Given the description of an element on the screen output the (x, y) to click on. 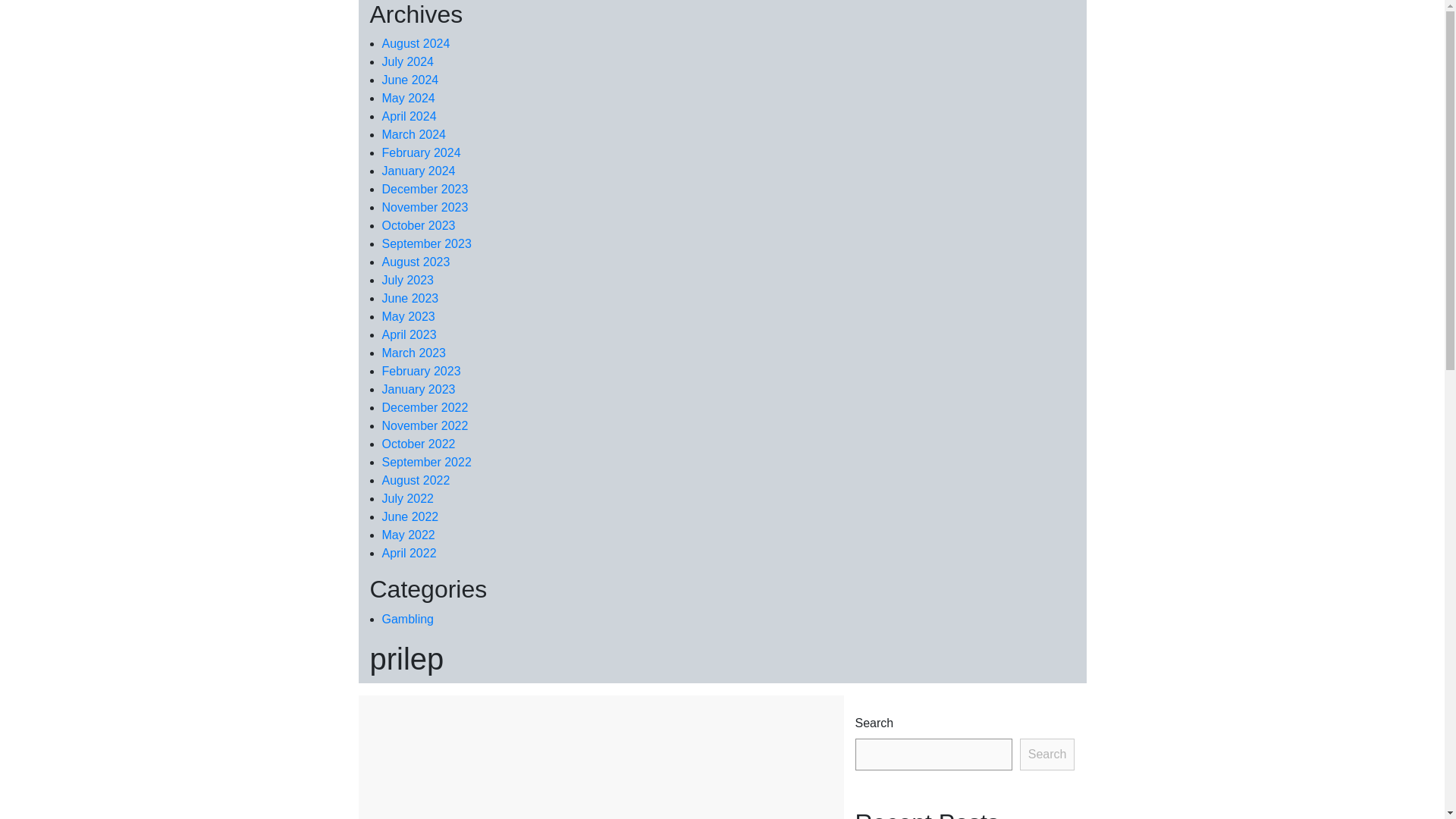
August 2024 (415, 42)
March 2024 (413, 133)
February 2023 (421, 370)
July 2022 (407, 498)
June 2023 (410, 297)
December 2022 (424, 407)
April 2022 (408, 553)
September 2022 (426, 461)
March 2023 (413, 352)
February 2024 (421, 152)
